Given the description of an element on the screen output the (x, y) to click on. 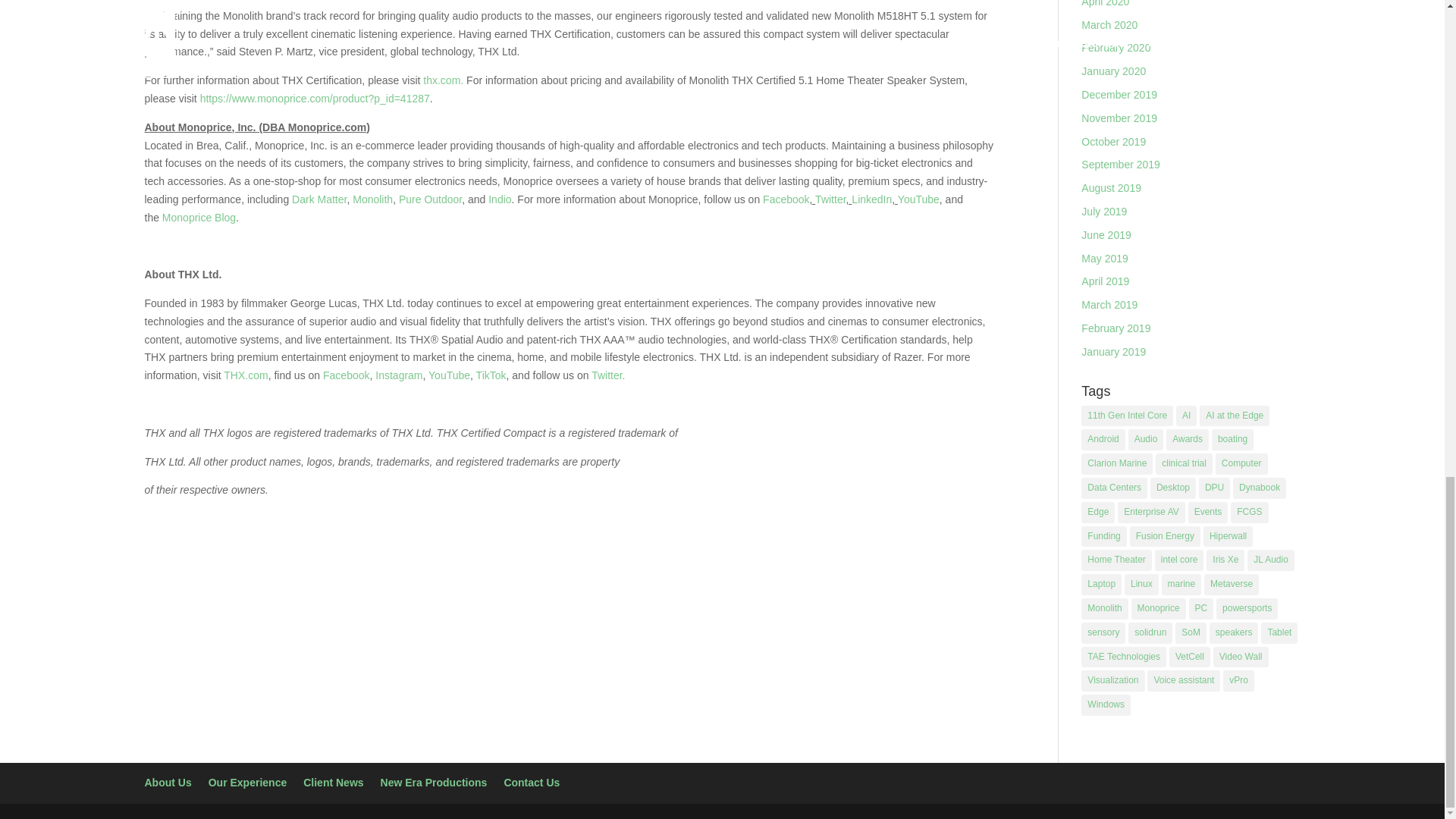
Indio (499, 199)
YouTube (918, 199)
Pure Outdoor (429, 199)
Instagram (398, 375)
Monolith (372, 199)
YouTube (449, 375)
Facebook (346, 375)
THX.com (245, 375)
Facebook (785, 199)
TikTok (491, 375)
thx.com. (443, 80)
Dark Matter (319, 199)
Monoprice Blog (198, 217)
LinkedIn (871, 199)
Twitter (830, 199)
